Given the description of an element on the screen output the (x, y) to click on. 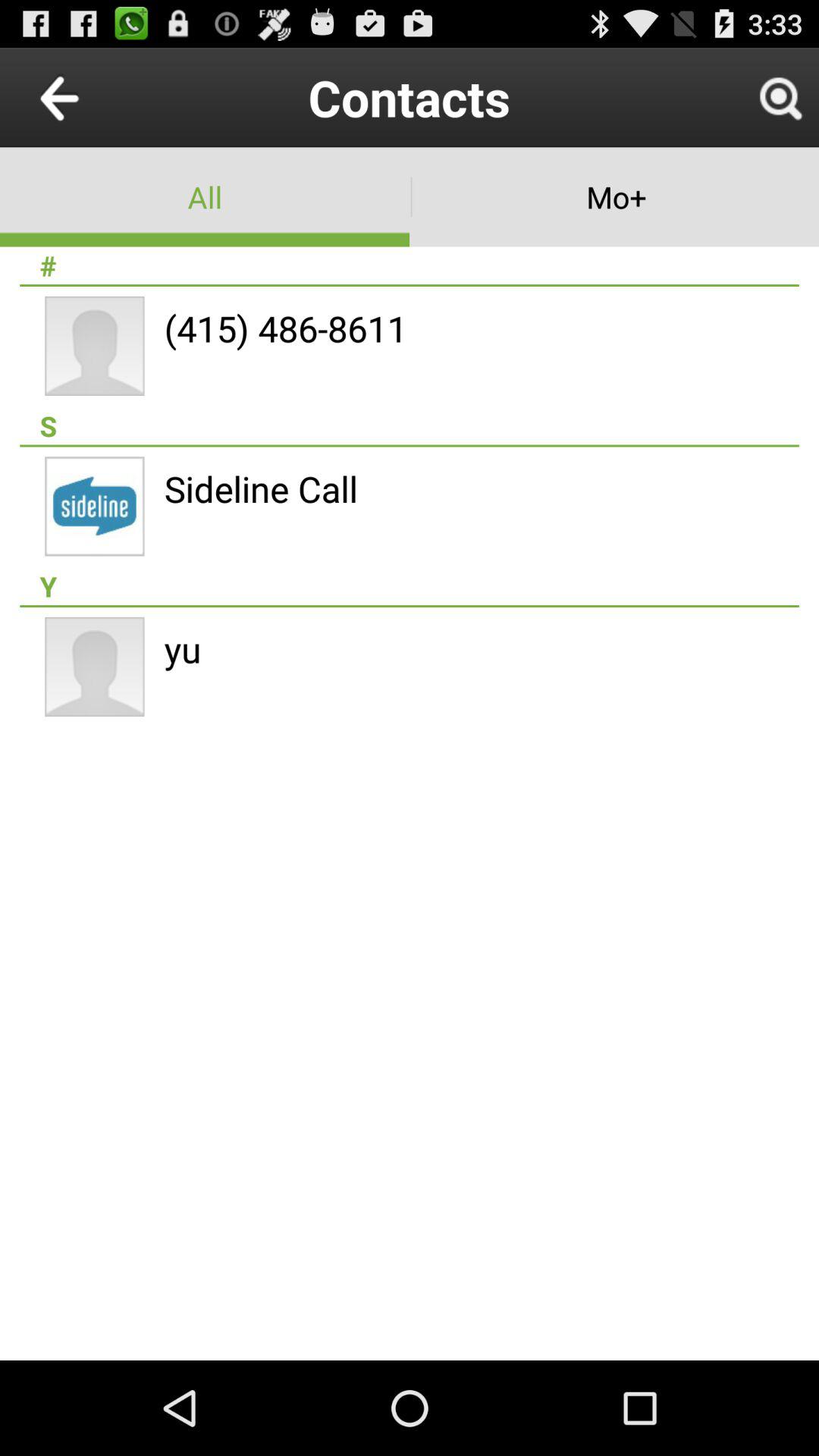
launch icon to the left of contacts icon (94, 97)
